Given the description of an element on the screen output the (x, y) to click on. 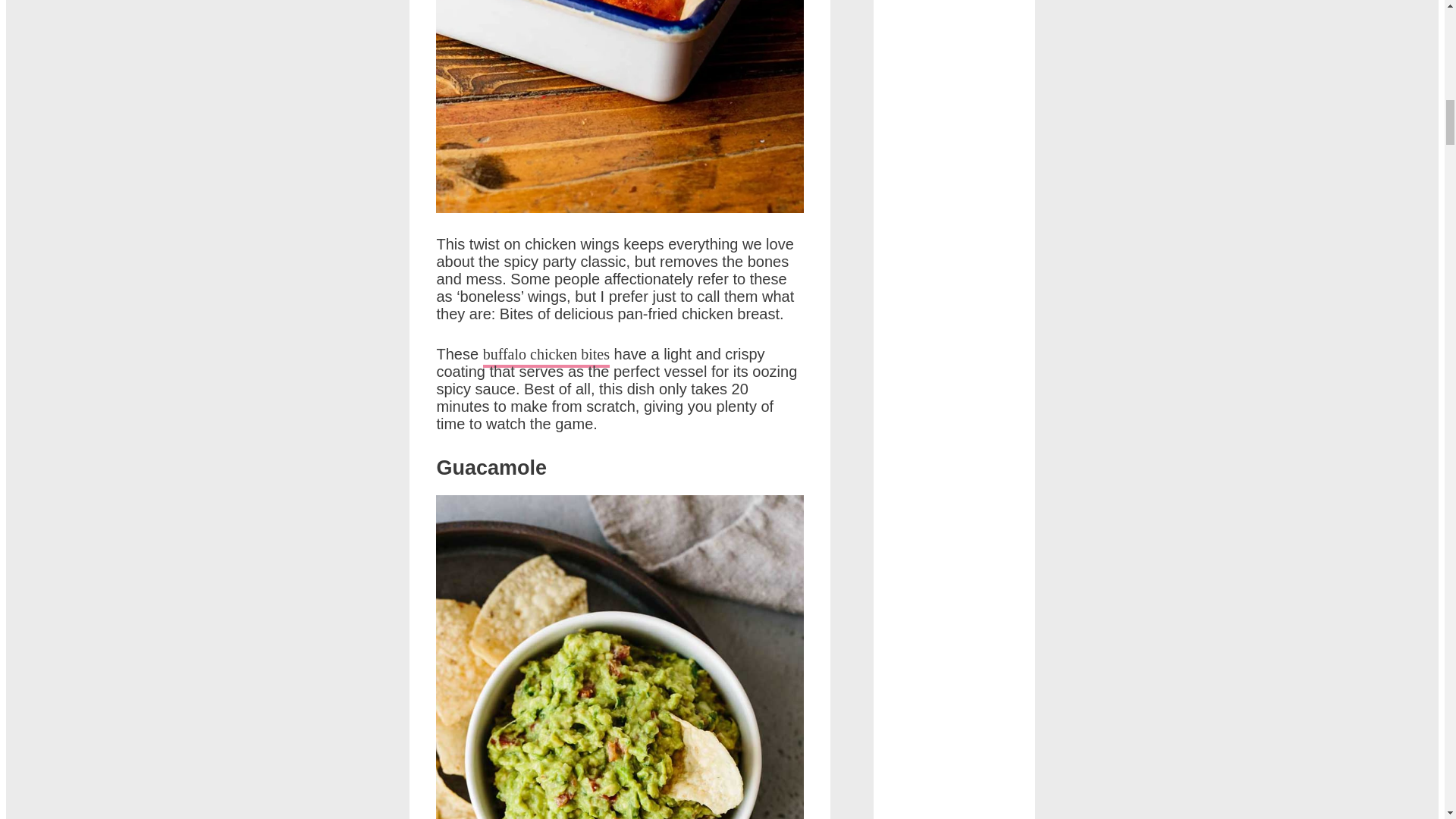
buffalo chicken bites (546, 356)
